Given the description of an element on the screen output the (x, y) to click on. 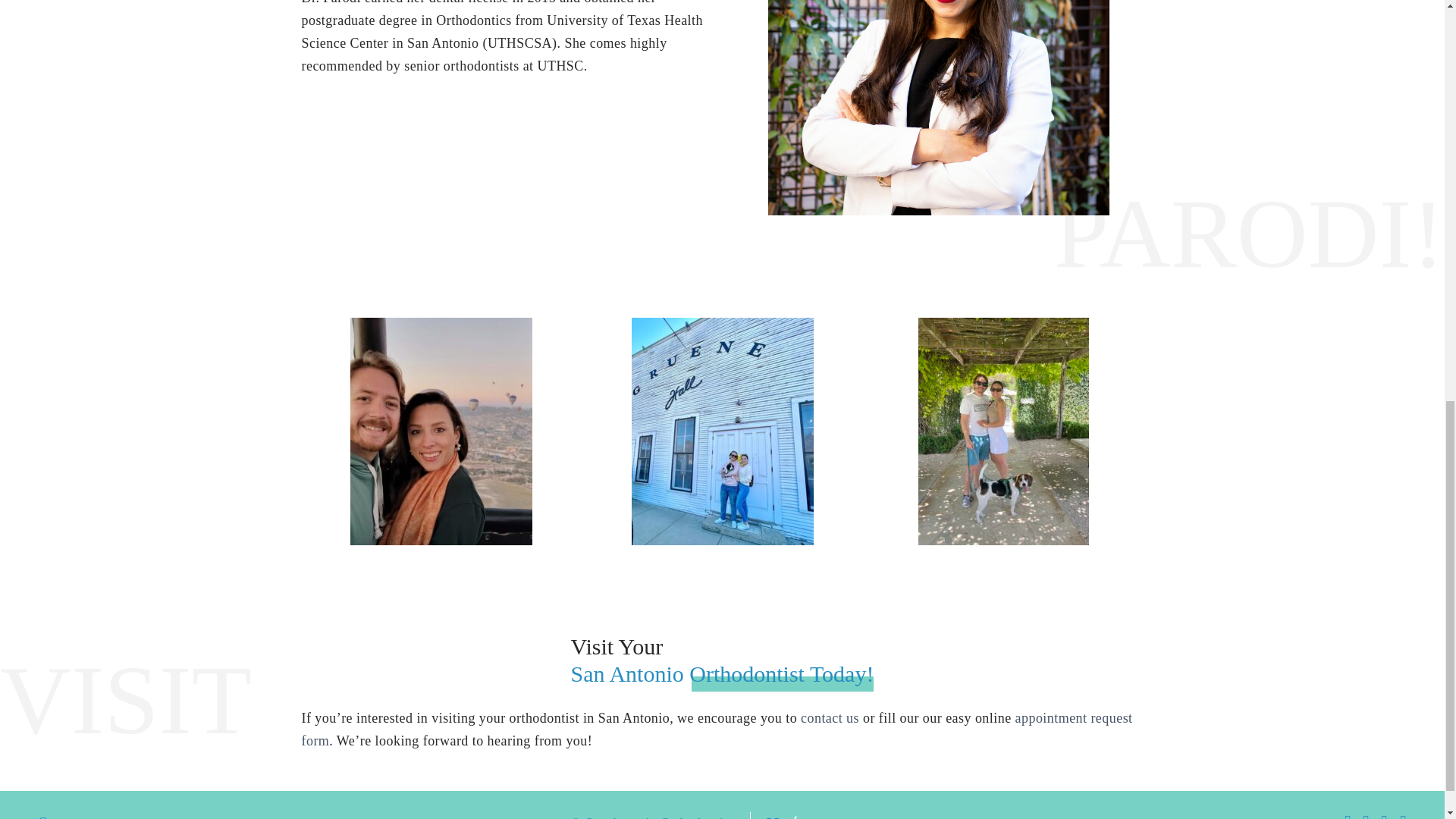
Made with love by TechyScouts (817, 817)
